Given the description of an element on the screen output the (x, y) to click on. 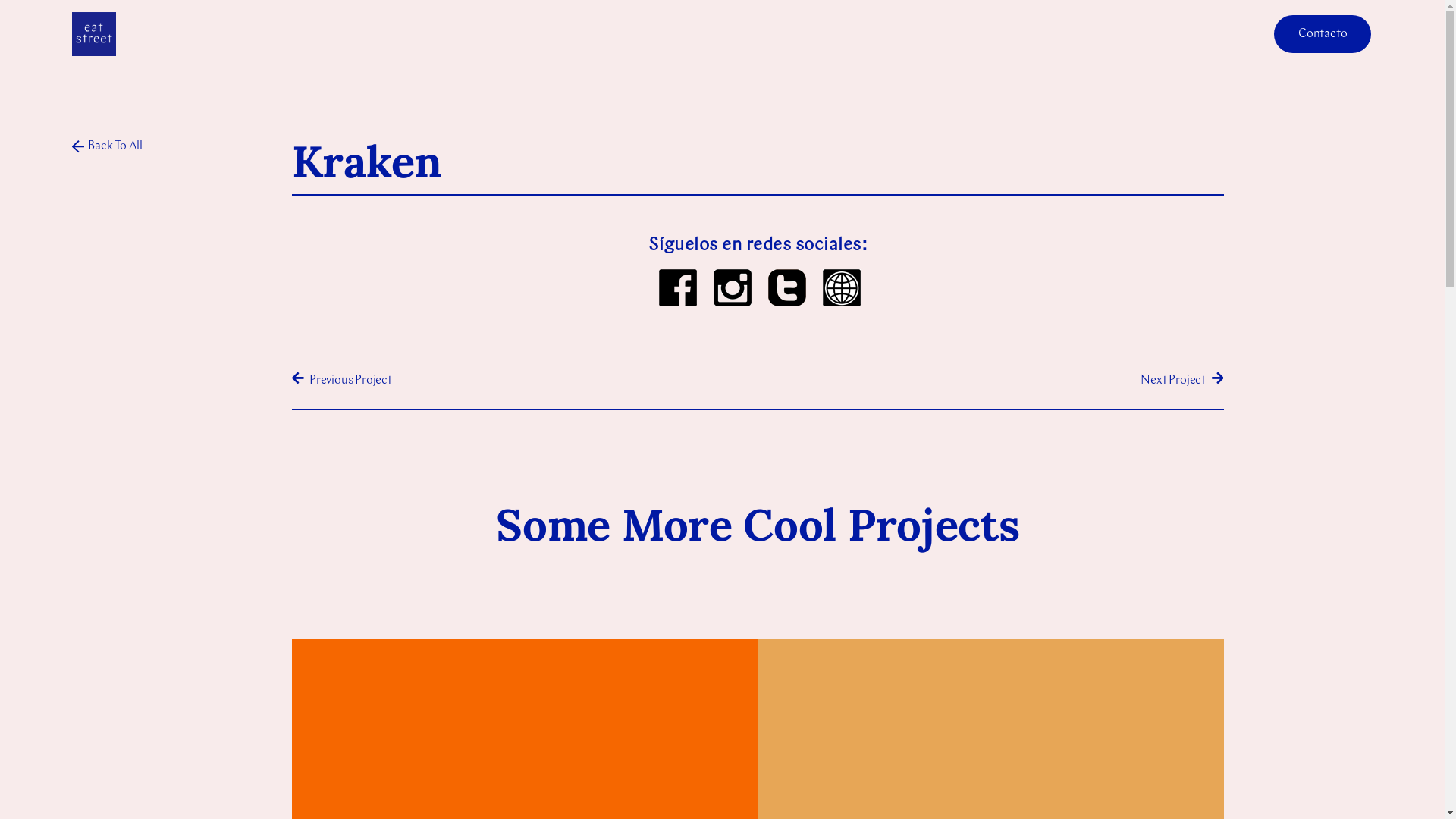
Next Project Element type: text (990, 380)
Contacto Element type: text (1322, 34)
Previous Project Element type: text (524, 380)
Back To All Element type: text (107, 147)
